Given the description of an element on the screen output the (x, y) to click on. 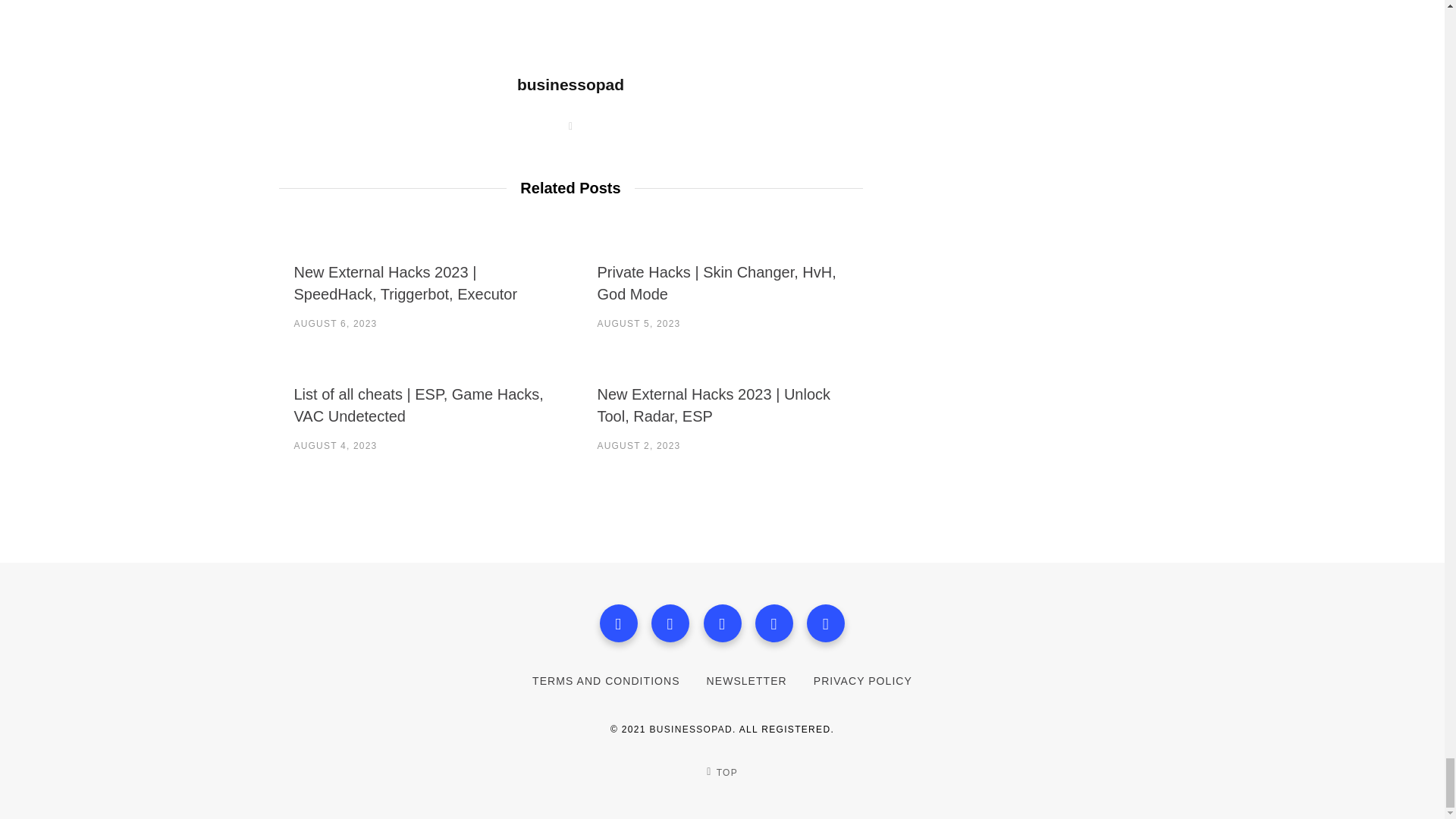
Posts by businessopad (570, 84)
